Given the description of an element on the screen output the (x, y) to click on. 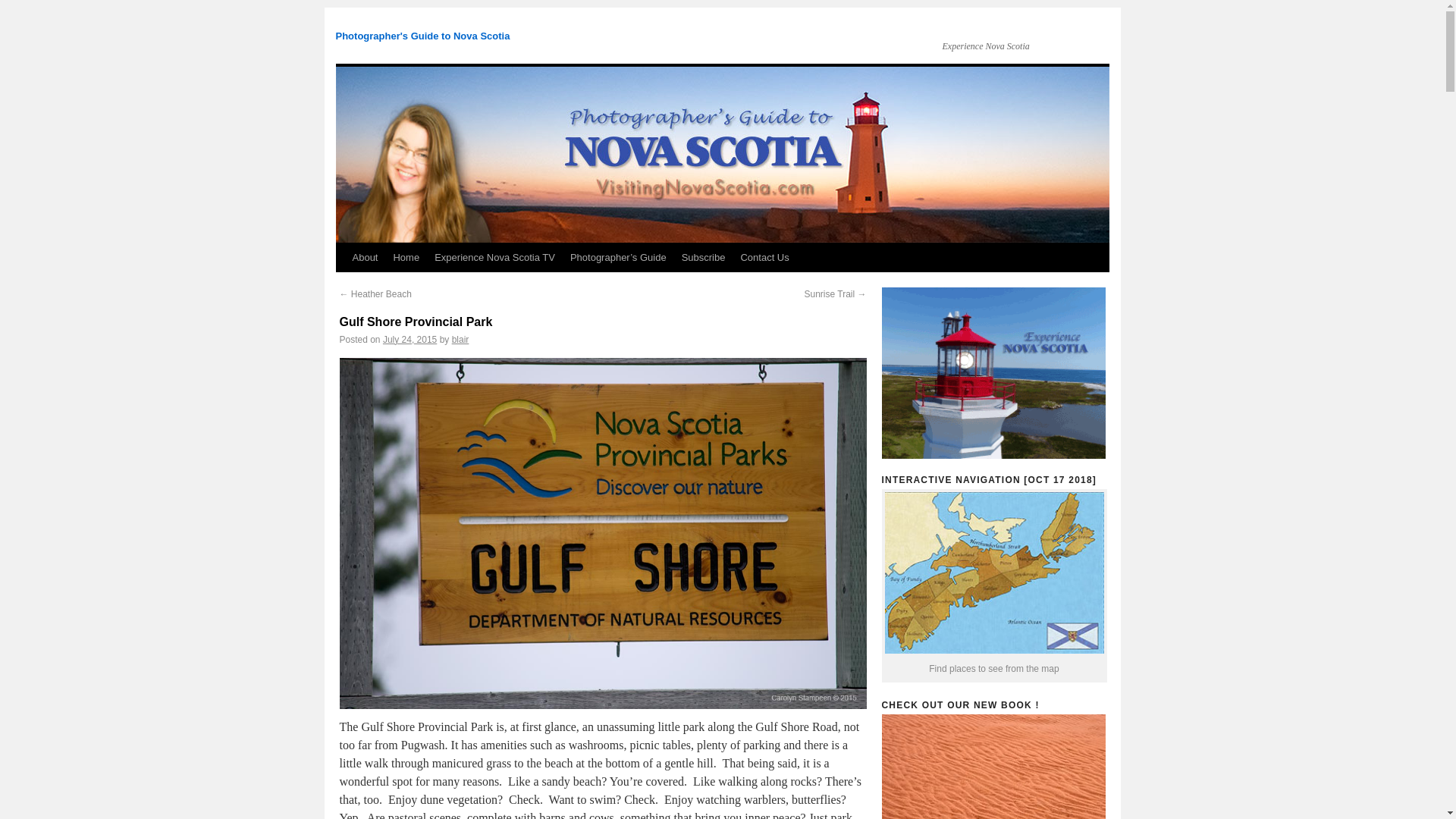
July 24, 2015 (409, 339)
2:22 pm (409, 339)
Home (405, 257)
Contact Us (764, 257)
About (364, 257)
Experience Nova Scotia TV (494, 257)
Subscribe (703, 257)
Photographer's Guide to Nova Scotia (421, 35)
blair (459, 339)
Photographer's Guide to Nova Scotia (421, 35)
View all posts by blair (459, 339)
